Given the description of an element on the screen output the (x, y) to click on. 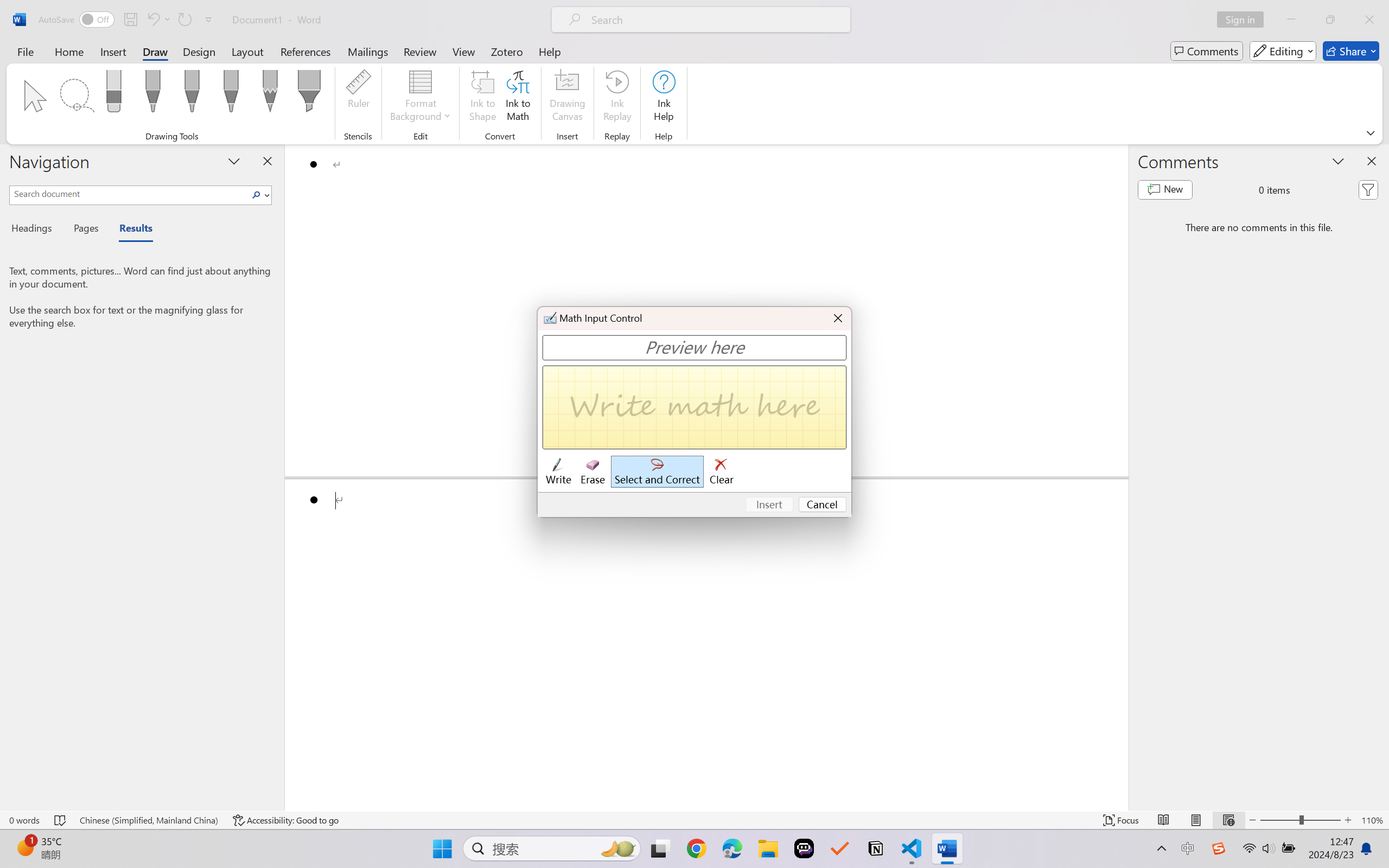
Microsoft Edge (731, 848)
